Given the description of an element on the screen output the (x, y) to click on. 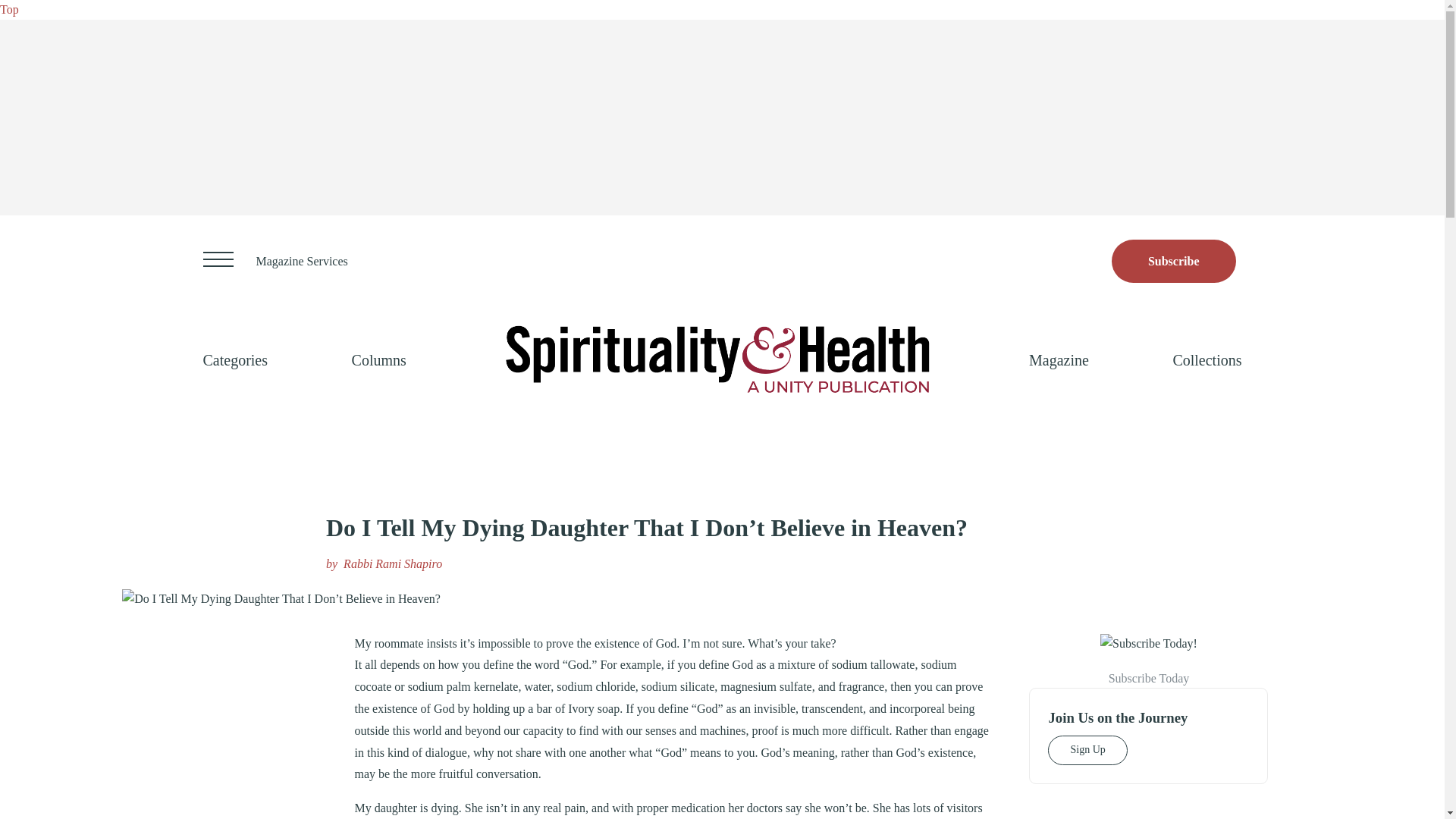
Top (9, 9)
Magazine (1059, 359)
Categories (235, 359)
Opens to Store site (1174, 261)
Subscribe (1174, 261)
Columns (379, 359)
Magazine Services (301, 260)
Collections (1206, 359)
